Given the description of an element on the screen output the (x, y) to click on. 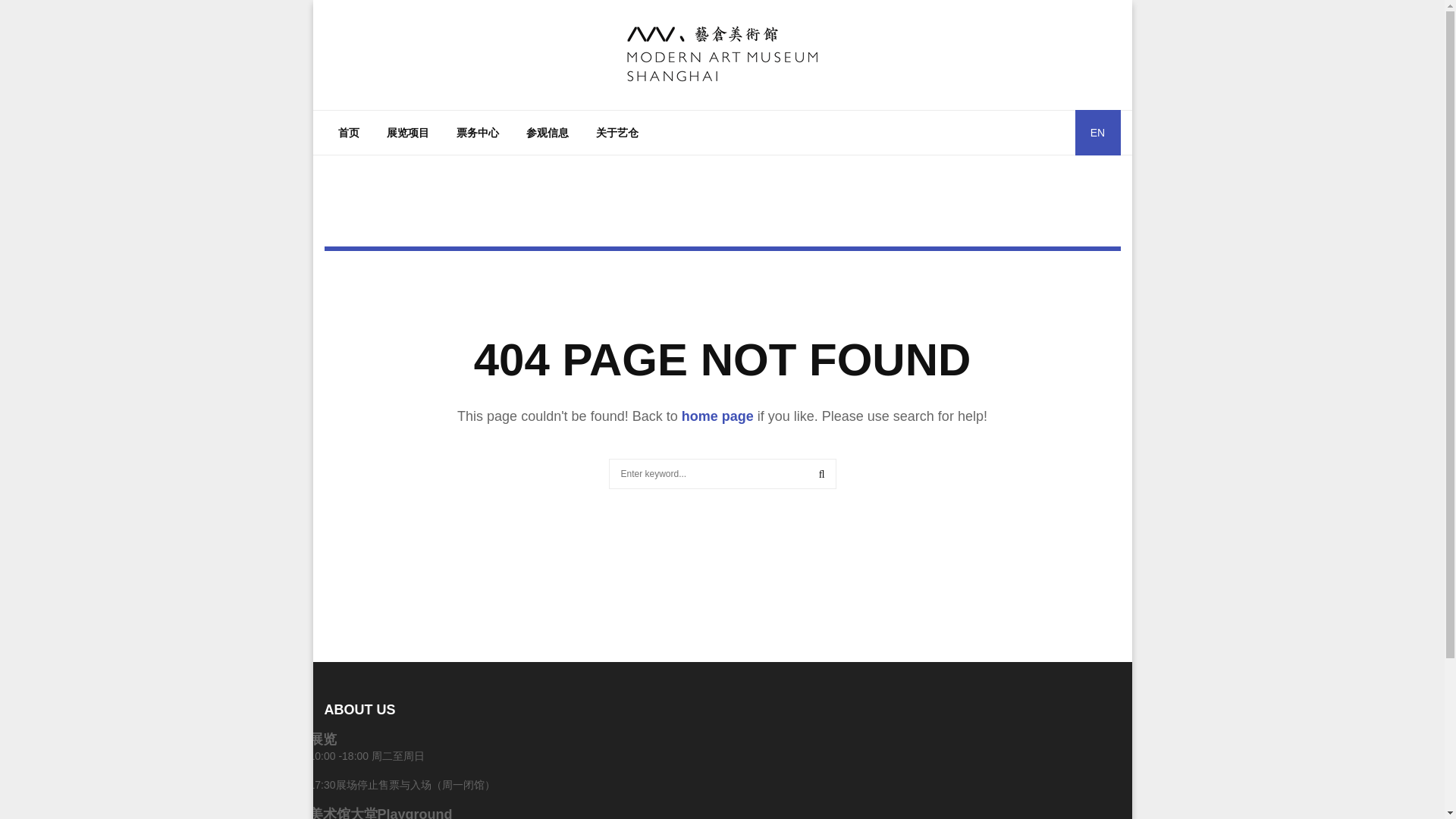
EN (1098, 132)
SEARCH (821, 473)
home page (717, 416)
